Given the description of an element on the screen output the (x, y) to click on. 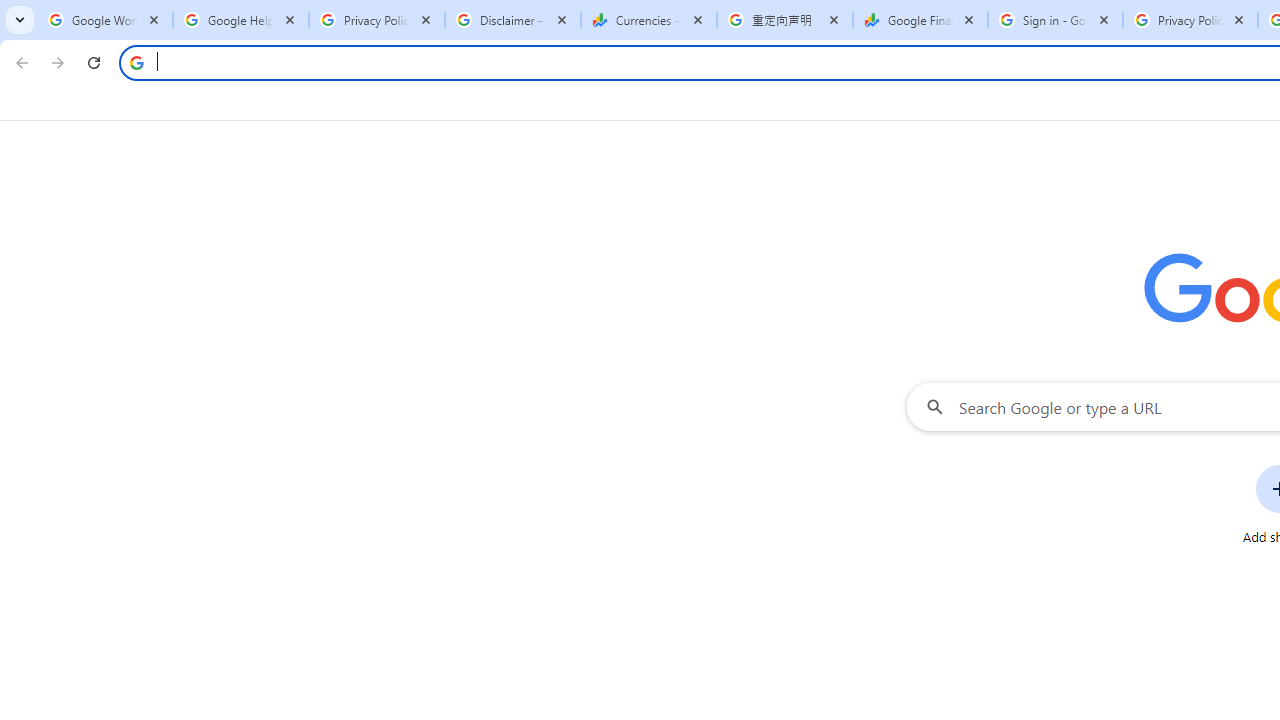
Sign in - Google Accounts (1055, 20)
Currencies - Google Finance (648, 20)
Google Workspace Admin Community (104, 20)
